Given the description of an element on the screen output the (x, y) to click on. 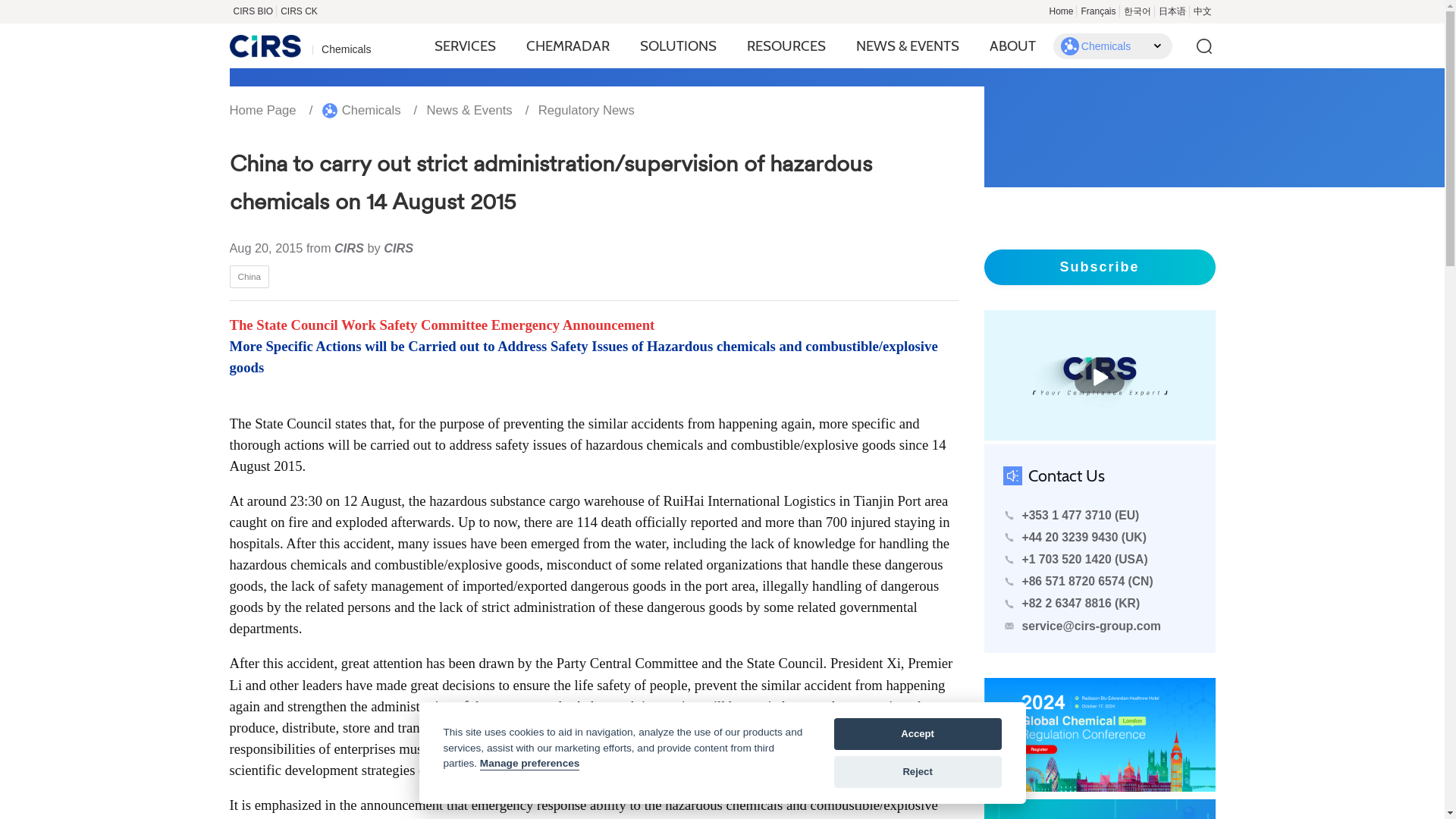
ABOUT (1012, 45)
Home (1061, 11)
CIRS CK (298, 11)
SOLUTIONS (678, 45)
CIRS BIO (252, 11)
SERVICES (464, 45)
CHEMRADAR (567, 45)
RESOURCES (785, 45)
